Given the description of an element on the screen output the (x, y) to click on. 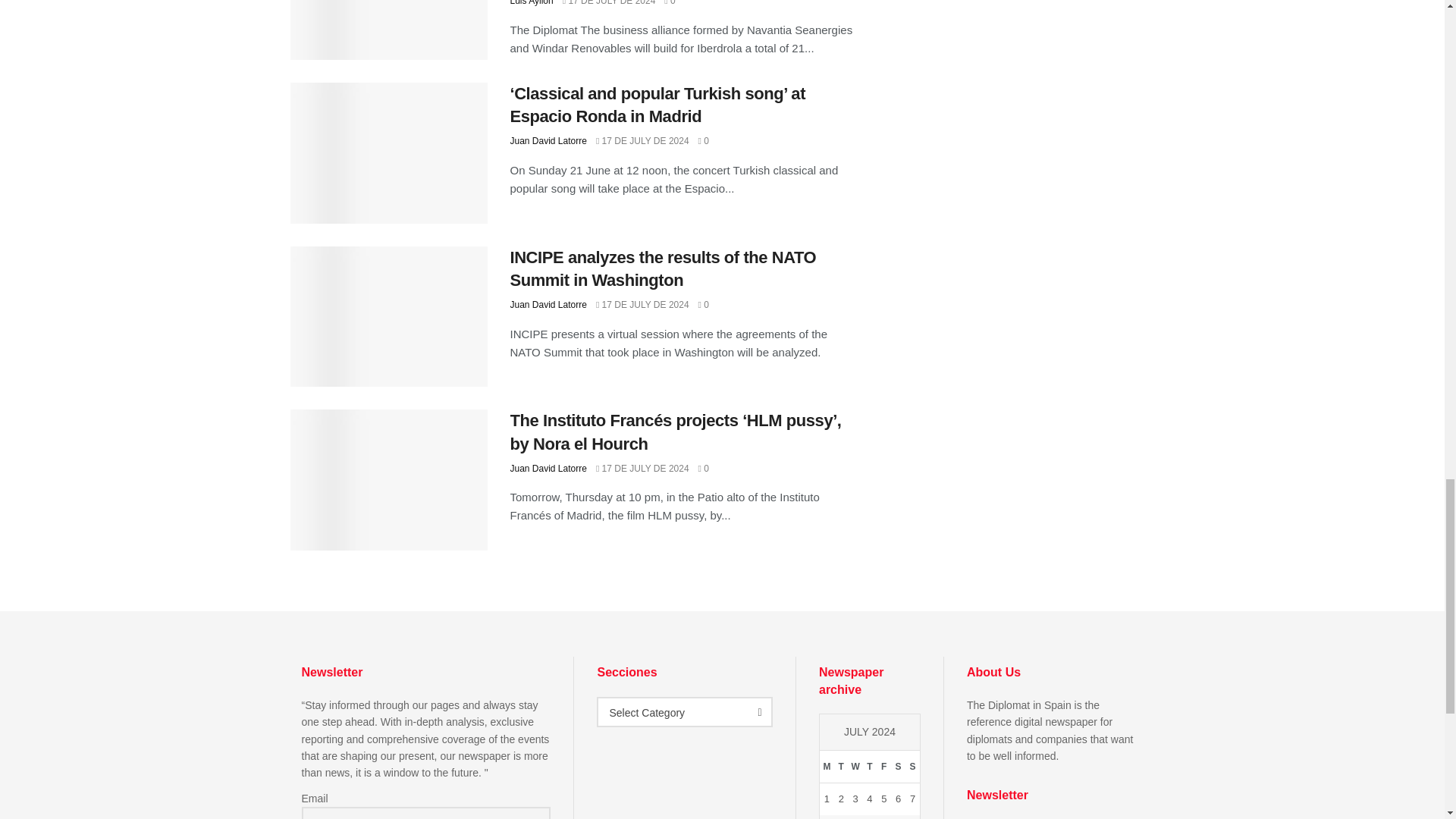
Sunday (912, 766)
Friday (883, 766)
Wednesday (855, 766)
Thursday (870, 766)
Monday (826, 766)
Tuesday (841, 766)
Saturday (898, 766)
